Given the description of an element on the screen output the (x, y) to click on. 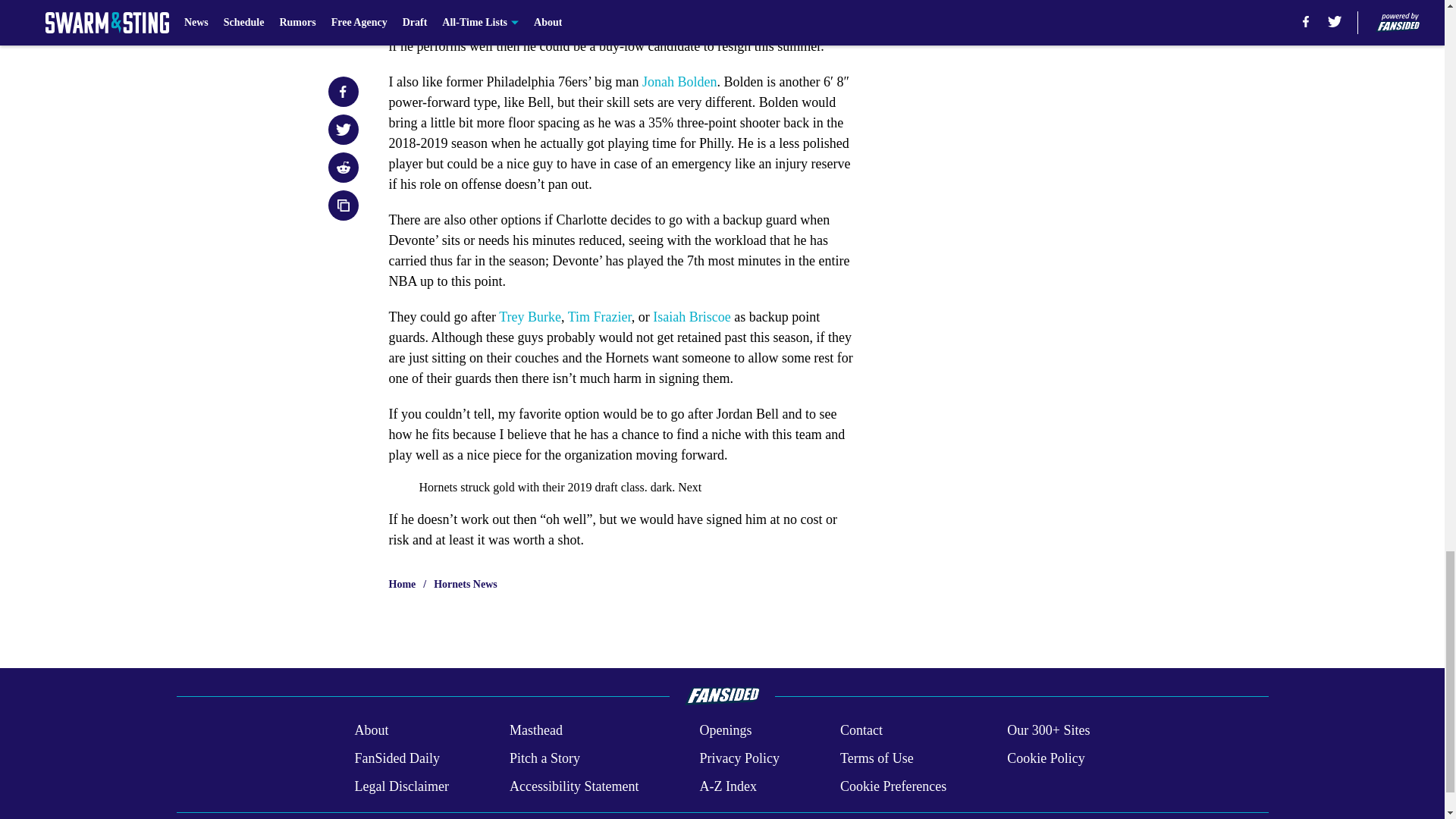
Contact (861, 730)
Masthead (535, 730)
Trey Burke (529, 316)
Isaiah Briscoe (691, 316)
Hornets News (465, 584)
Openings (724, 730)
About (370, 730)
Home (401, 584)
Tim Frazier (599, 316)
Jonah Bolden (679, 81)
